Given the description of an element on the screen output the (x, y) to click on. 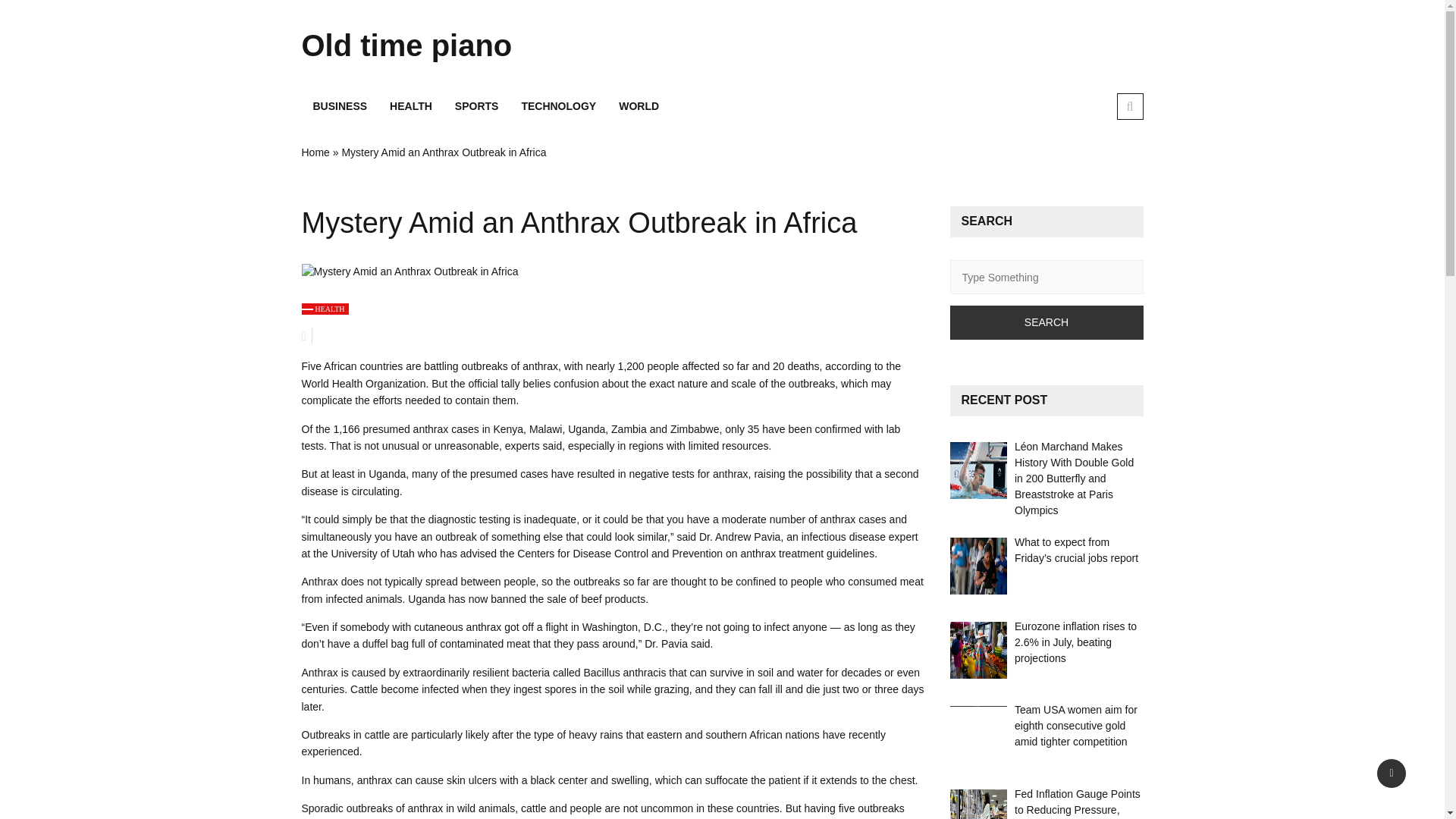
Home (315, 152)
TECHNOLOGY (558, 106)
WORLD (638, 106)
Search (1045, 322)
HEALTH (325, 308)
BUSINESS (339, 106)
Search (1045, 322)
HEALTH (411, 106)
